Given the description of an element on the screen output the (x, y) to click on. 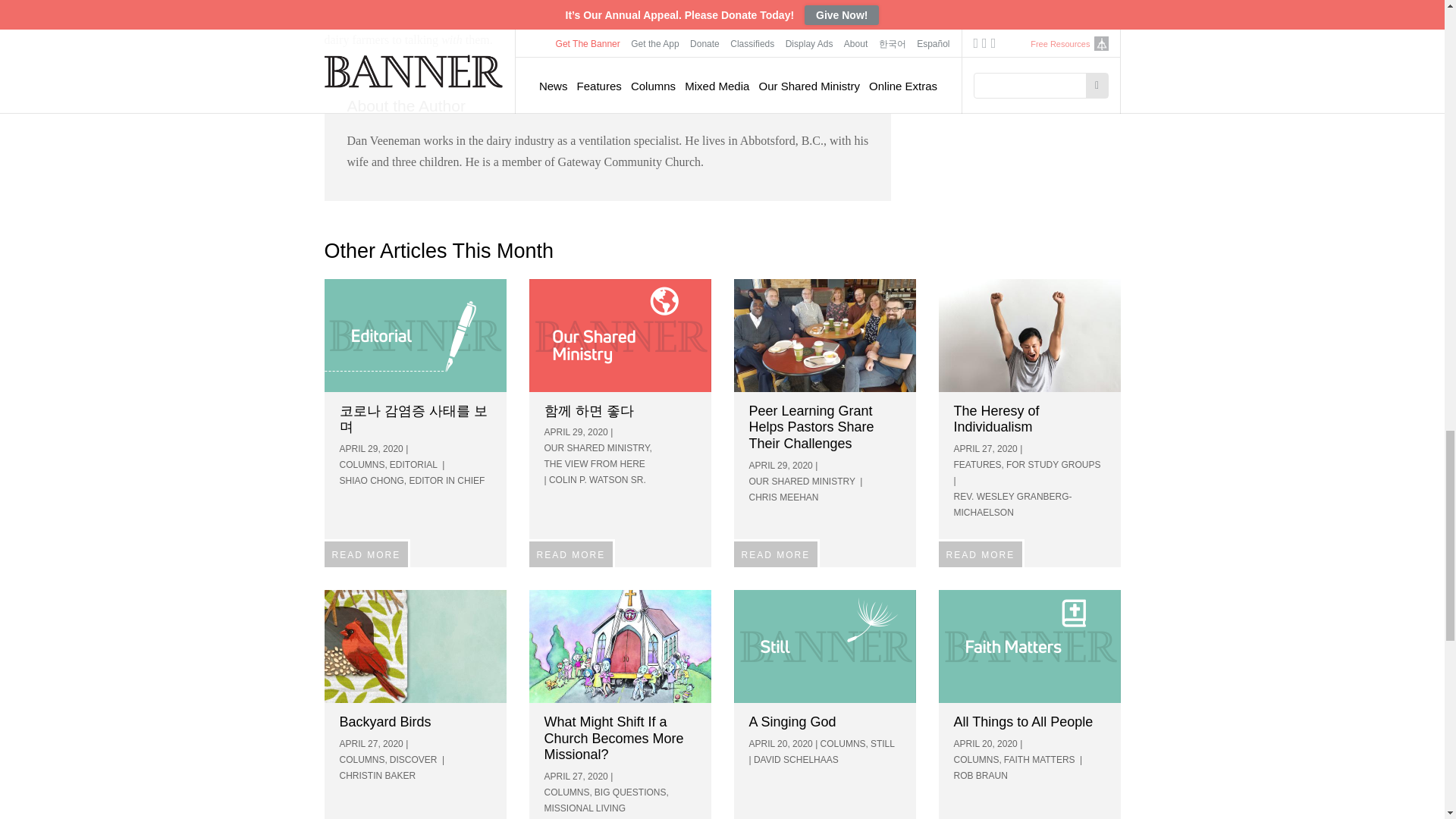
What Might Shift If a Church Becomes More Missional? (620, 645)
The Heresy of Individualism (1030, 335)
Backyard Birds (415, 645)
Peer Learning Grant Helps Pastors Share Their Challenges (824, 335)
